Given the description of an element on the screen output the (x, y) to click on. 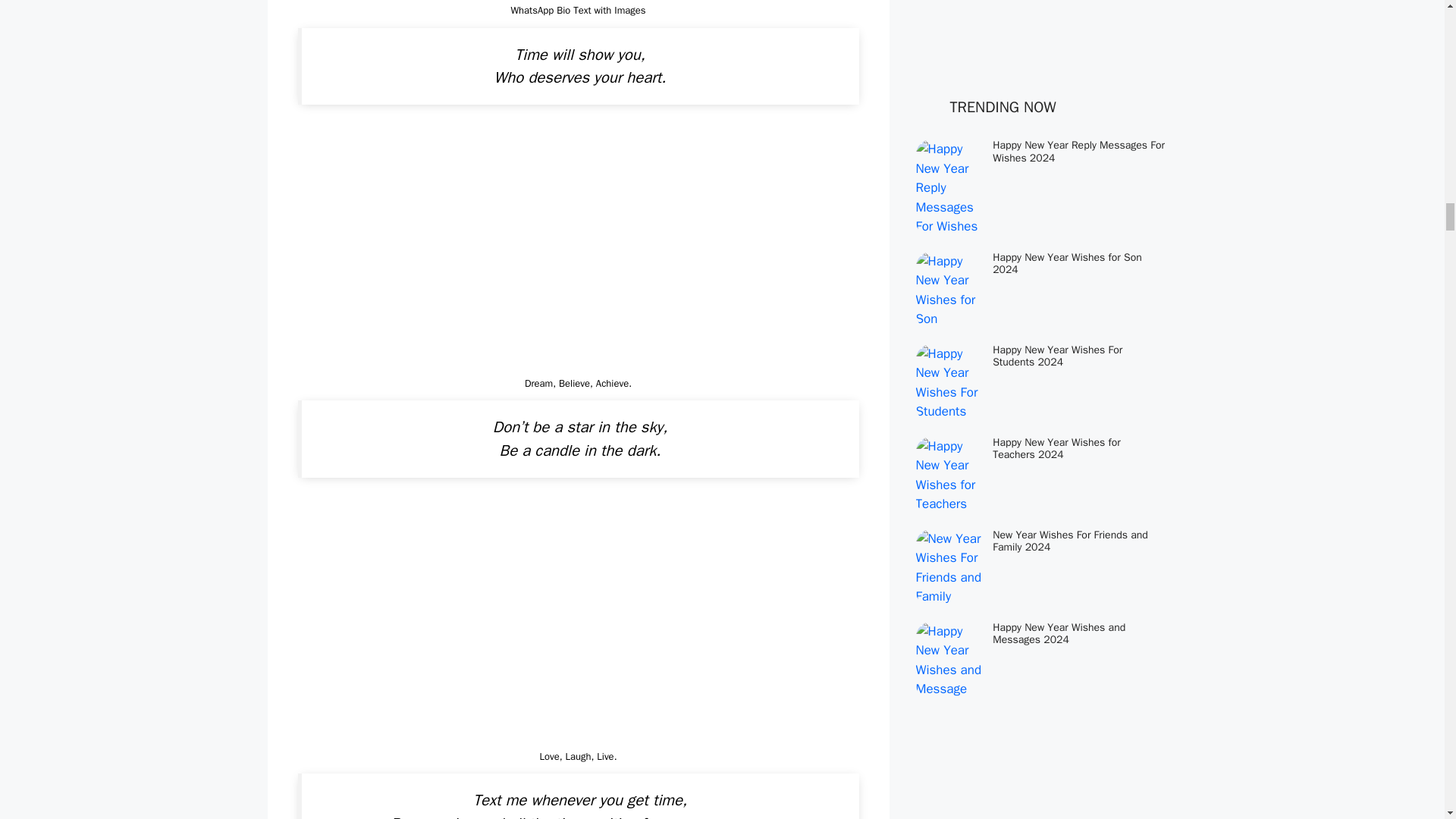
WhatsApp Bio Text with Images (577, 621)
WhatsApp Bio Text with Images (577, 249)
